Given the description of an element on the screen output the (x, y) to click on. 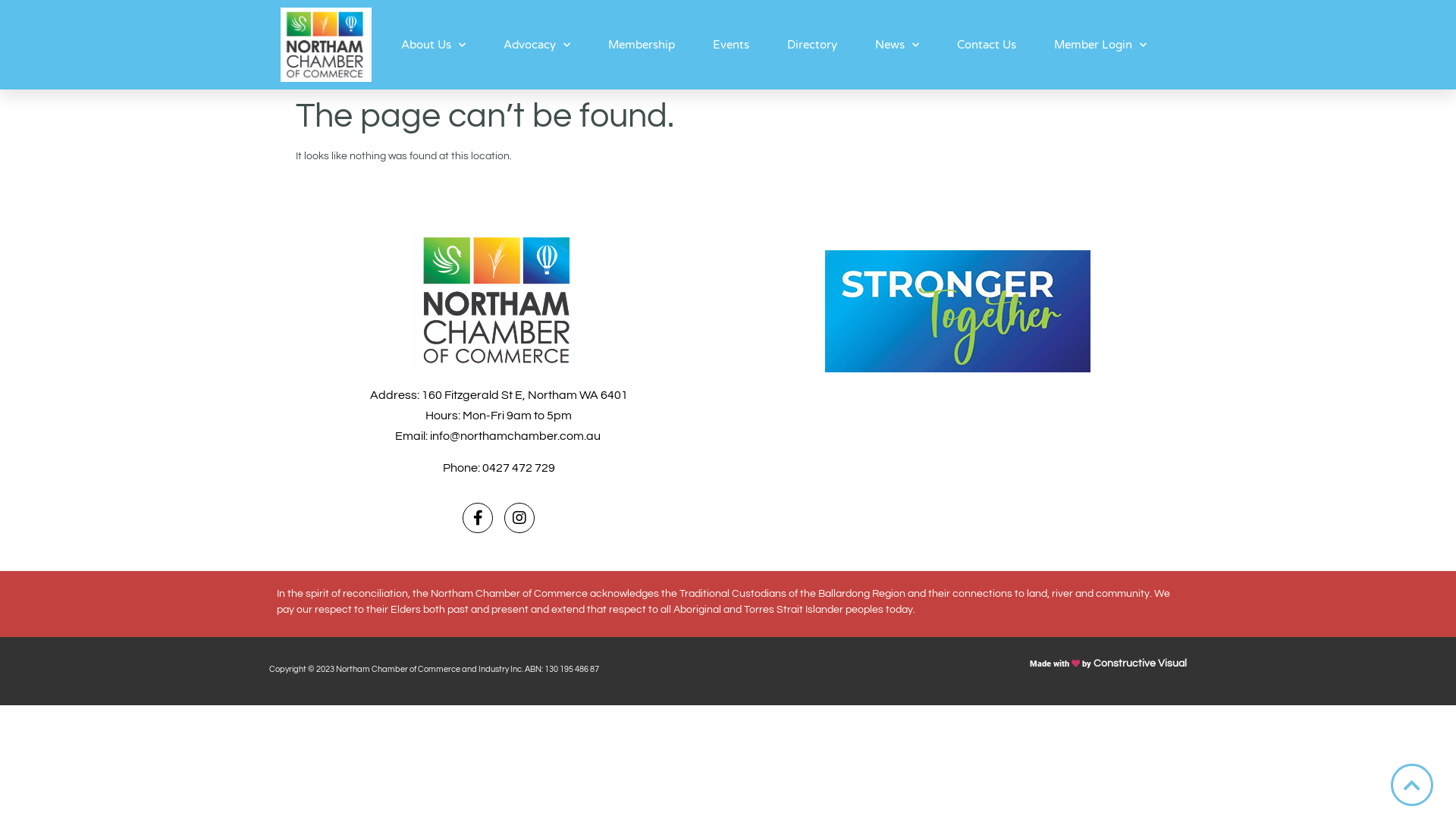
Membership Element type: text (641, 44)
Directory Element type: text (812, 44)
Contact Us Element type: text (986, 44)
Events Element type: text (730, 44)
Advocacy Element type: text (536, 44)
Member Login Element type: text (1100, 44)
Constructive Visual Element type: text (1139, 663)
News Element type: text (897, 44)
About Us Element type: text (433, 44)
